Given the description of an element on the screen output the (x, y) to click on. 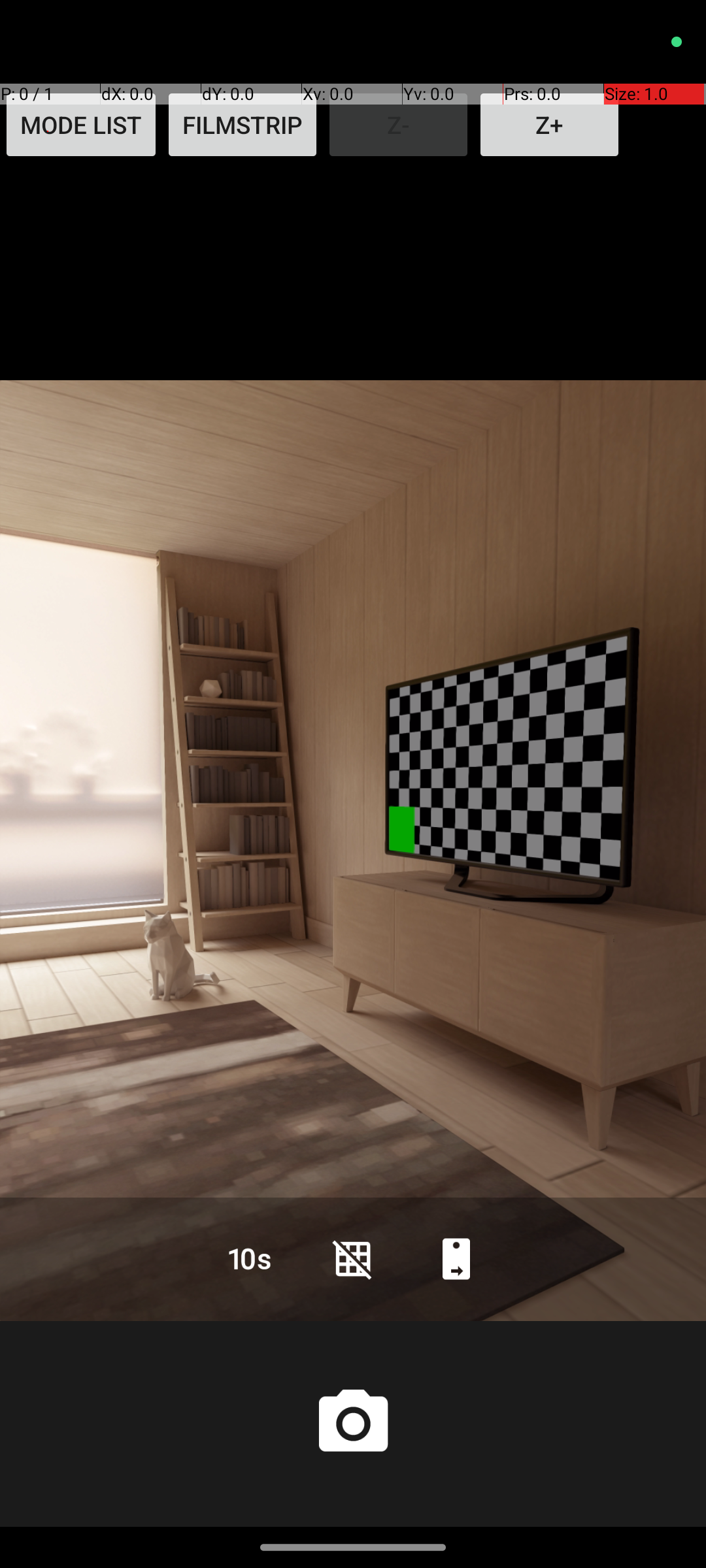
Countdown timer duration is set to 10 seconds Element type: android.widget.ImageButton (249, 1258)
